Given the description of an element on the screen output the (x, y) to click on. 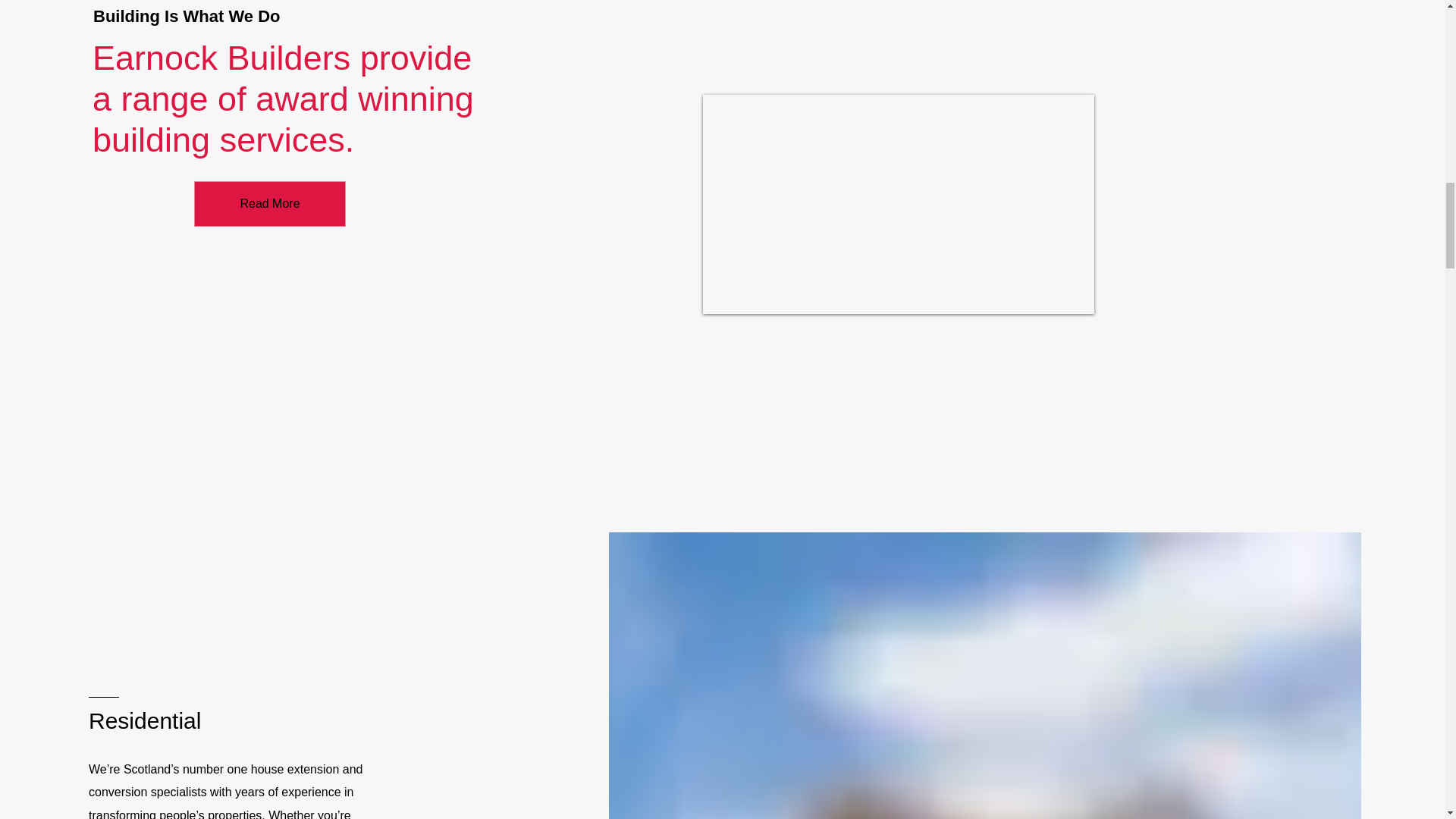
Read More (269, 203)
